Given the description of an element on the screen output the (x, y) to click on. 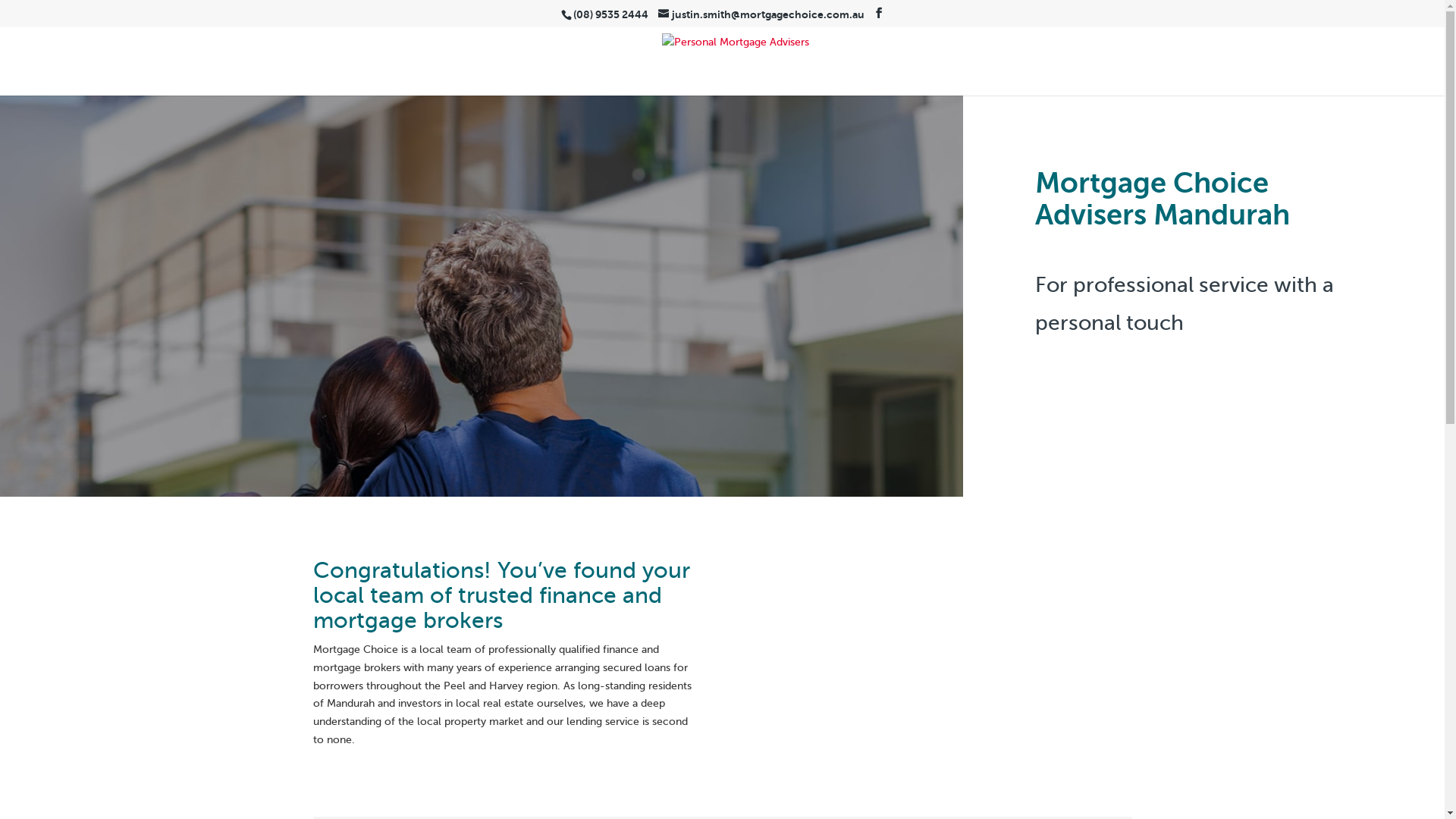
How to apply for a home loan. Element type: hover (937, 666)
justin.smith@mortgagechoice.com.au Element type: text (761, 12)
(08) 9535 2444 Element type: text (610, 13)
